Given the description of an element on the screen output the (x, y) to click on. 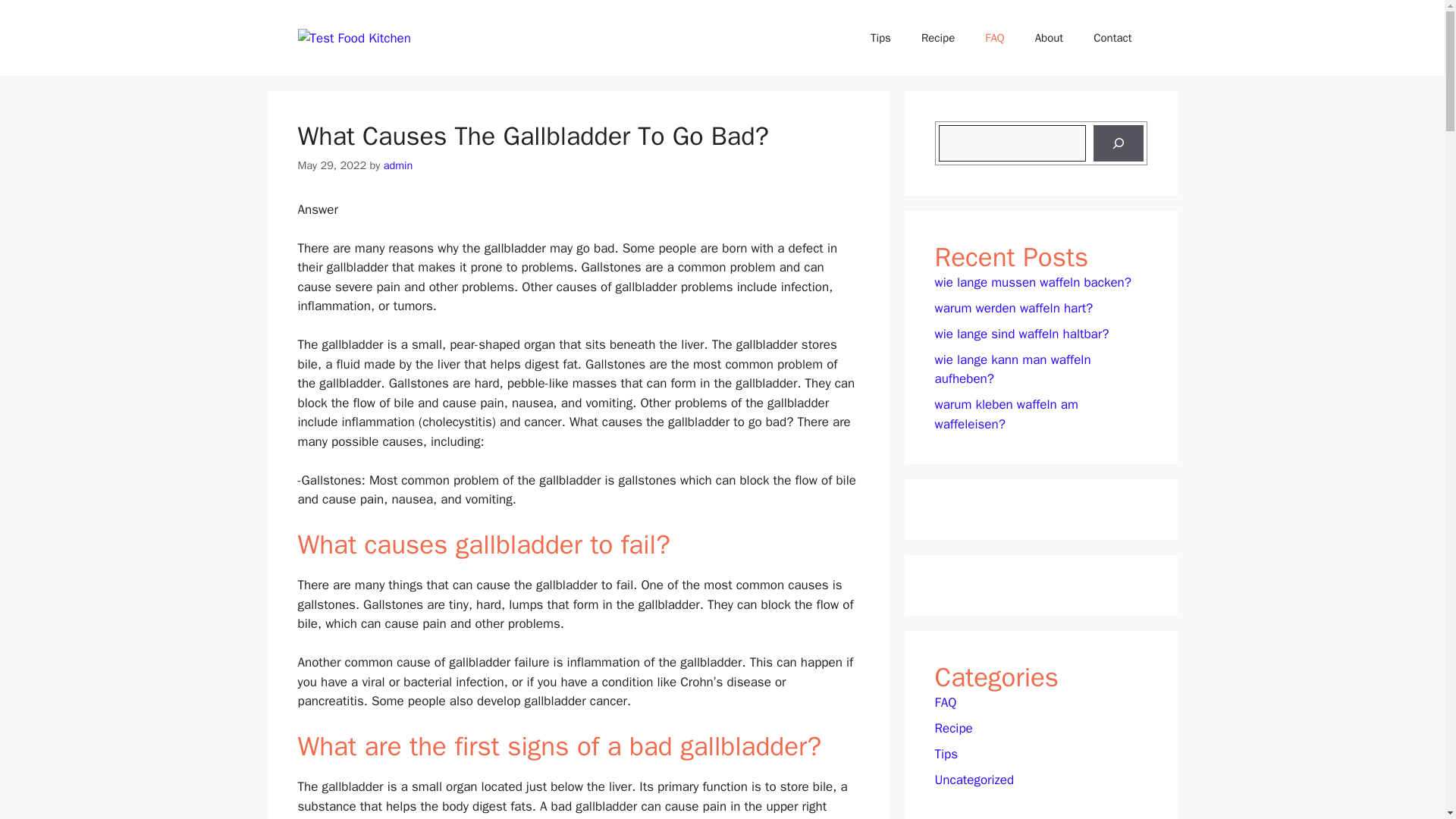
Recipe (937, 37)
wie lange sind waffeln haltbar? (1021, 333)
FAQ (994, 37)
Tips (946, 754)
Tips (880, 37)
Recipe (953, 728)
admin (398, 164)
About (1049, 37)
FAQ (945, 702)
View all posts by admin (398, 164)
